Given the description of an element on the screen output the (x, y) to click on. 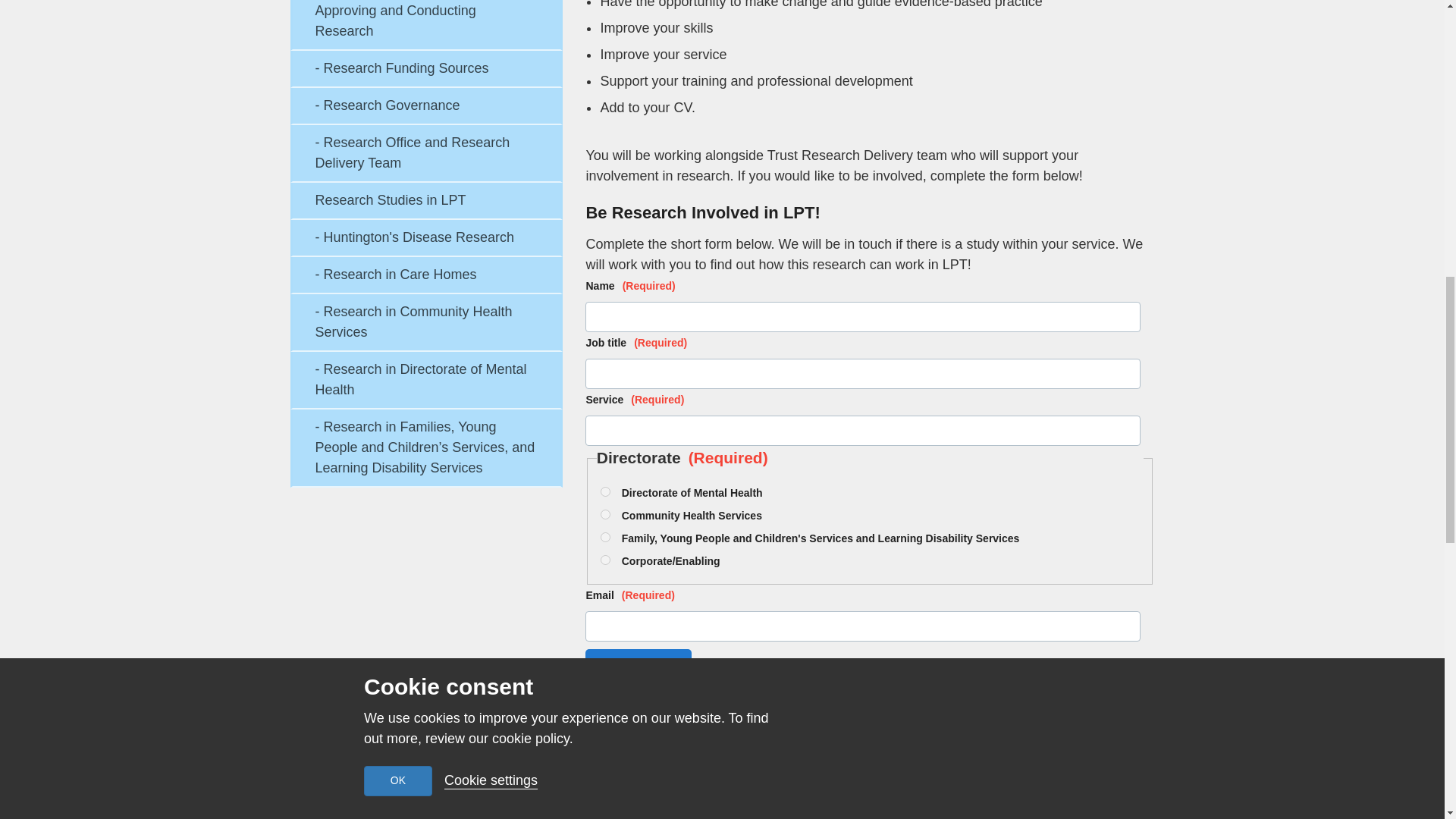
Directorate of Mental Health (604, 491)
Submit (638, 664)
Community Health Services (604, 514)
